Given the description of an element on the screen output the (x, y) to click on. 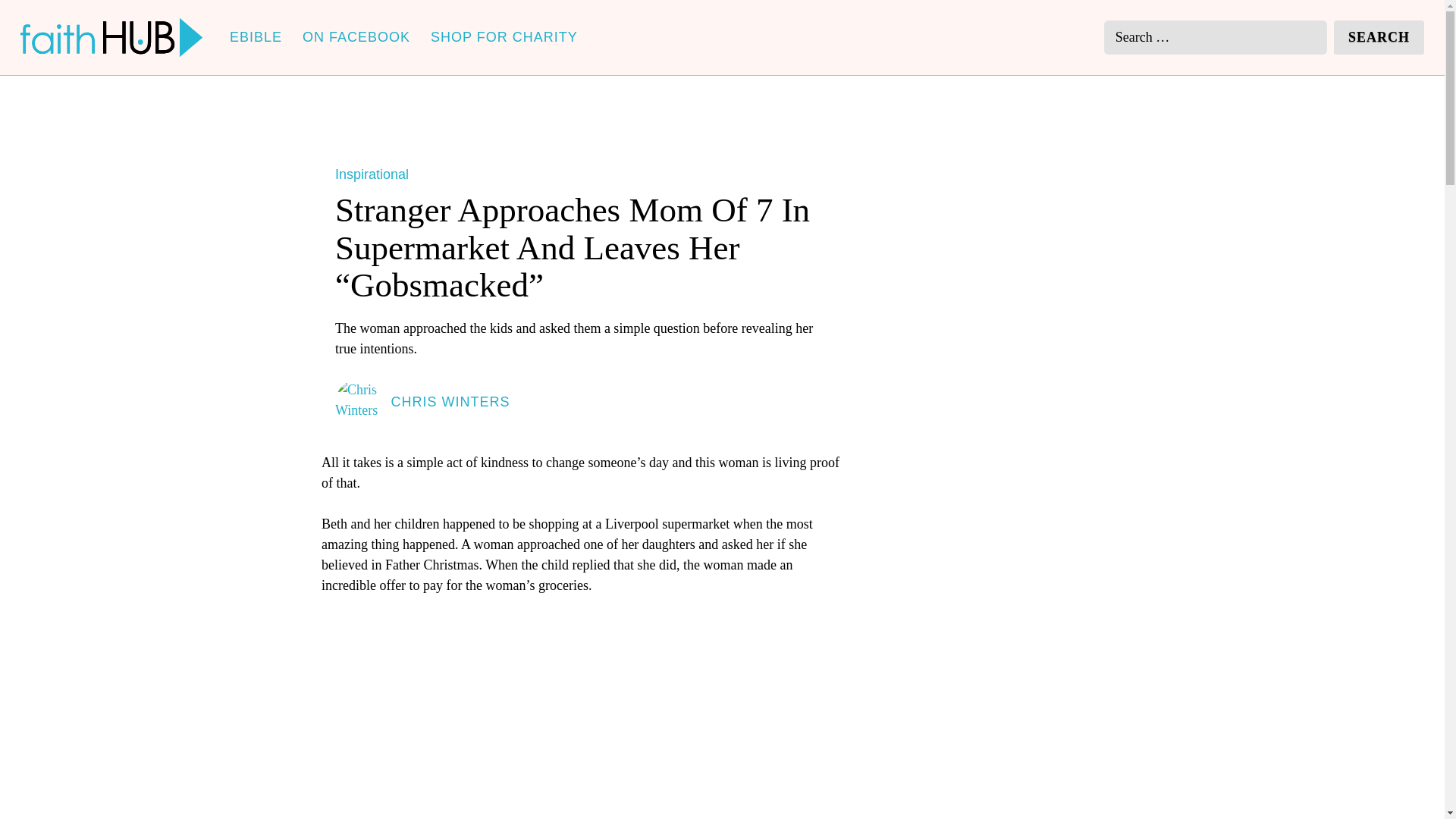
Search (1378, 37)
Search (1378, 37)
Search (1378, 37)
ON FACEBOOK (356, 37)
Inspirational (371, 174)
EBIBLE (256, 37)
SHOP FOR CHARITY (504, 37)
